Given the description of an element on the screen output the (x, y) to click on. 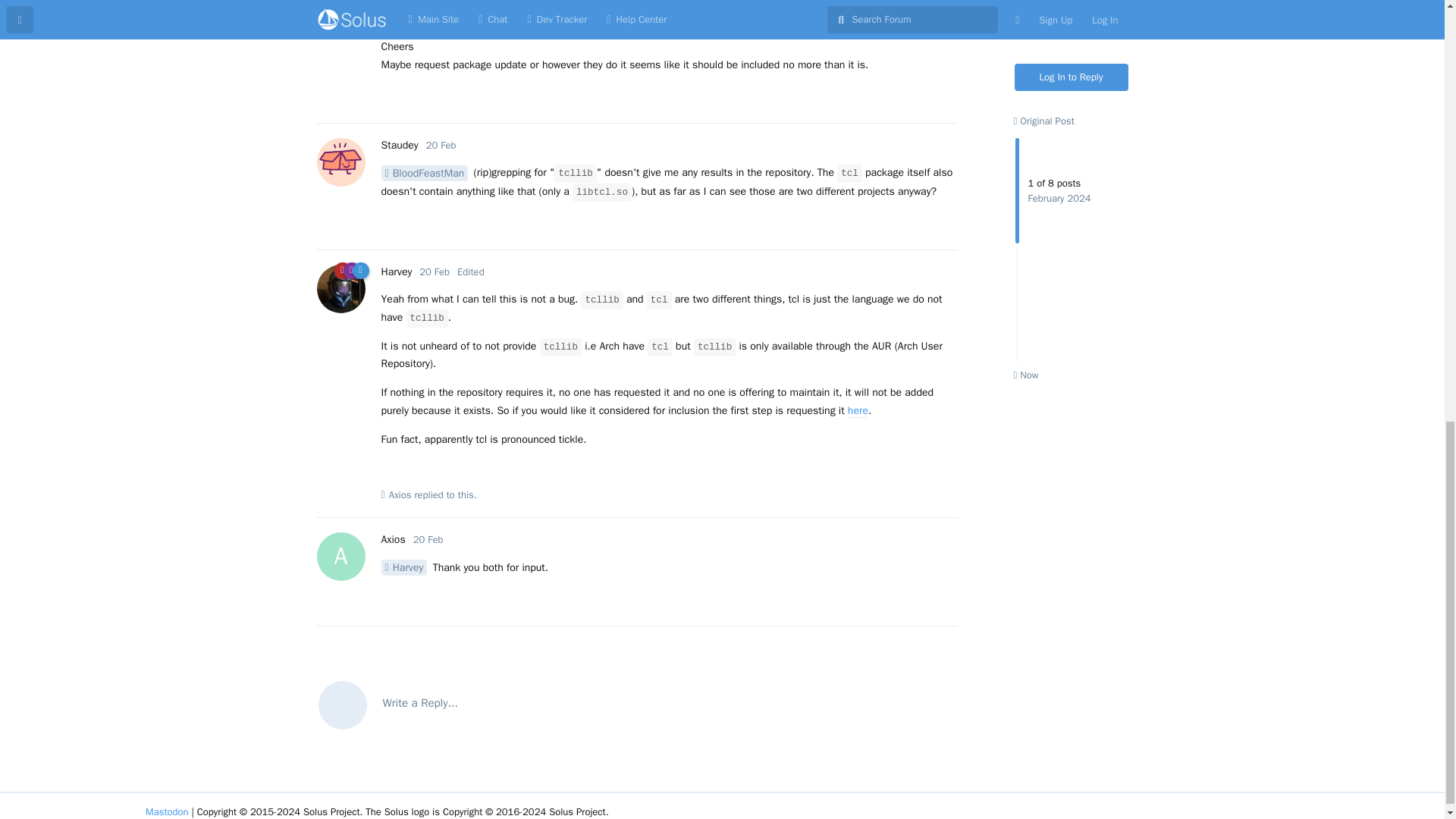
Tuesday, February 20, 2024 6:36 AM (441, 144)
Tuesday, February 20, 2024 7:05 AM (434, 271)
Tuesday, February 20, 2024 7:13 AM (428, 539)
Staudey (398, 144)
